Given the description of an element on the screen output the (x, y) to click on. 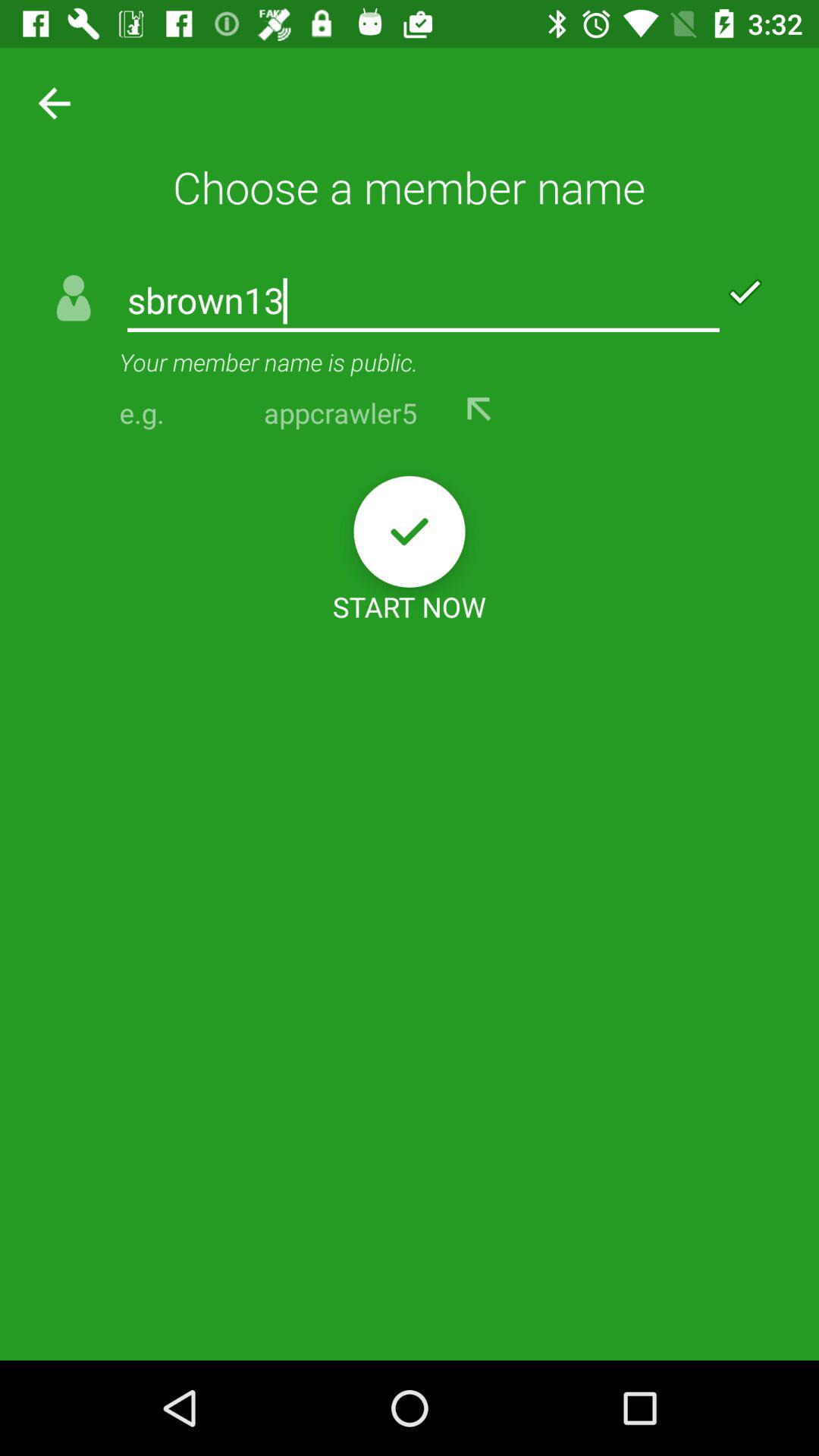
click on the text field (423, 302)
click on the icon beside sbrown13 (75, 302)
